Given the description of an element on the screen output the (x, y) to click on. 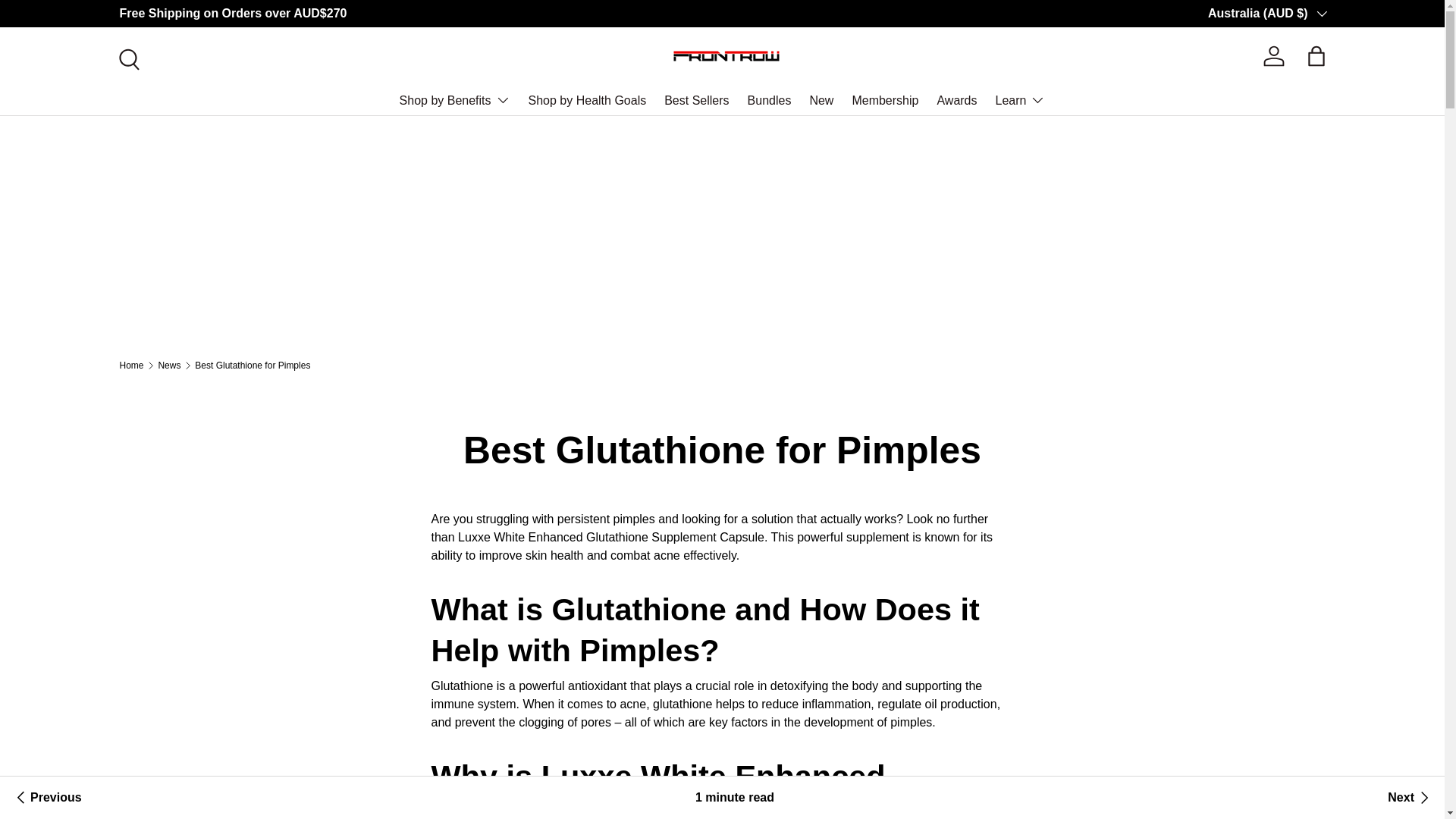
Bundles (770, 100)
Bag (1316, 55)
Log in (1273, 55)
Best Glutathione for Dark Spots (46, 797)
Membership (884, 100)
Top 10 Best Glutathione in the Philippines (1409, 797)
Skip to content (68, 21)
Best Sellers (696, 100)
Shop by Health Goals (587, 100)
Search (127, 57)
Shop by Benefits (454, 100)
Awards (956, 100)
Learn (1019, 100)
